Given the description of an element on the screen output the (x, y) to click on. 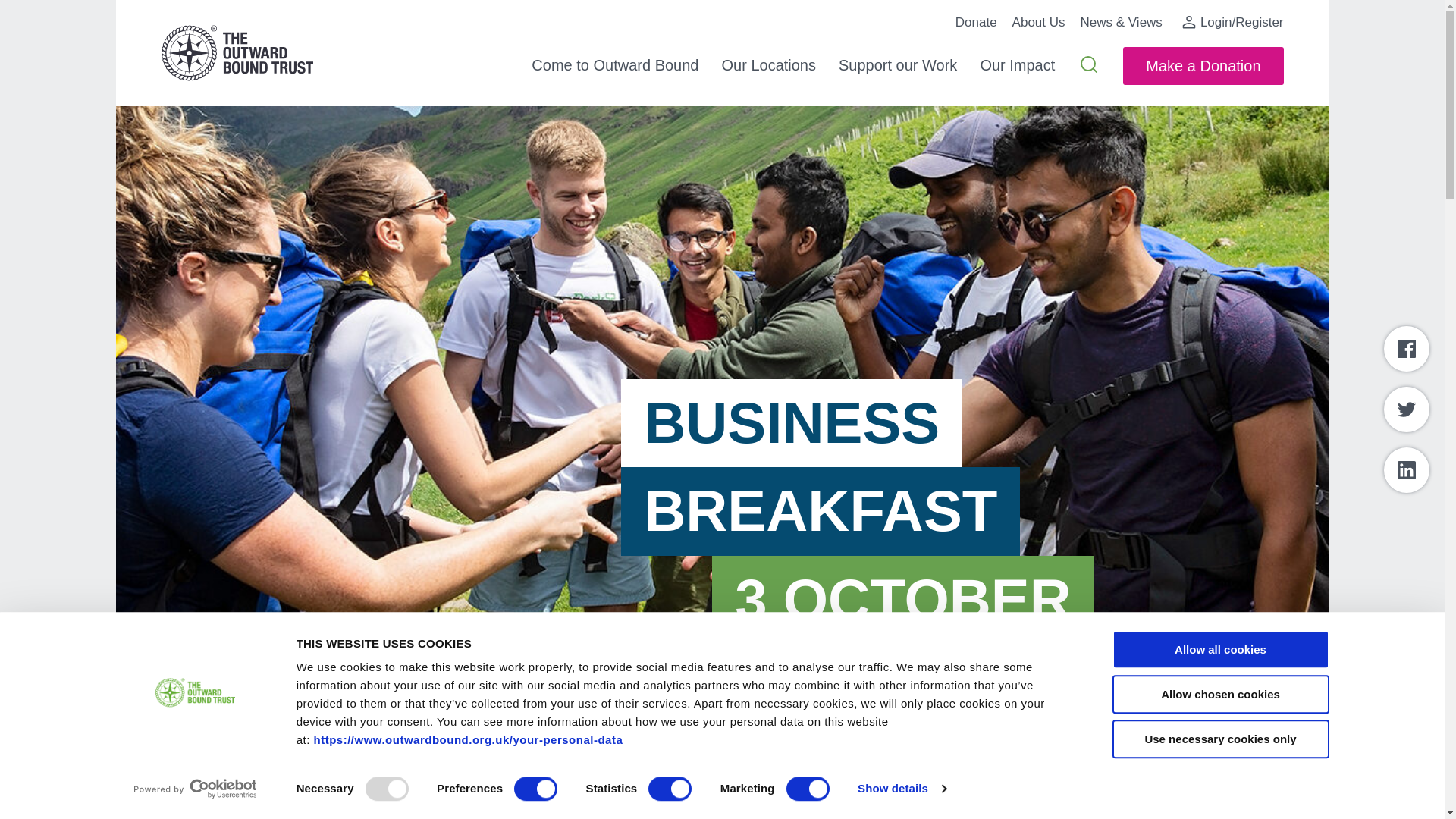
Show details (900, 789)
